Given the description of an element on the screen output the (x, y) to click on. 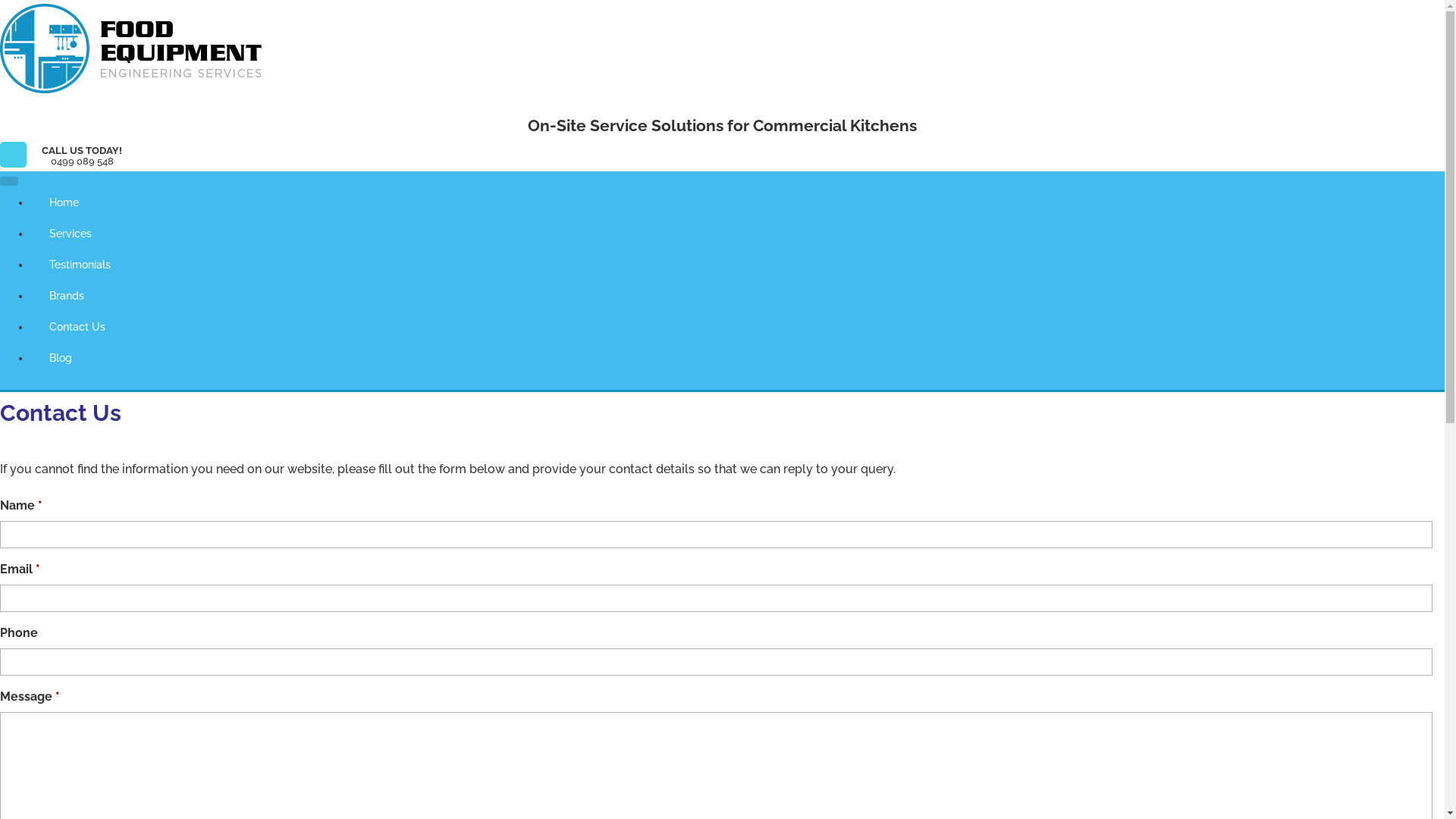
0499 089 548 Element type: text (81, 161)
Contact Us Element type: text (737, 326)
Blog Element type: text (737, 357)
Testimonials Element type: text (737, 263)
Services Element type: text (737, 233)
Food Equipment Engineering Services Element type: text (108, 119)
Home Element type: text (737, 201)
Brands Element type: text (737, 295)
